Given the description of an element on the screen output the (x, y) to click on. 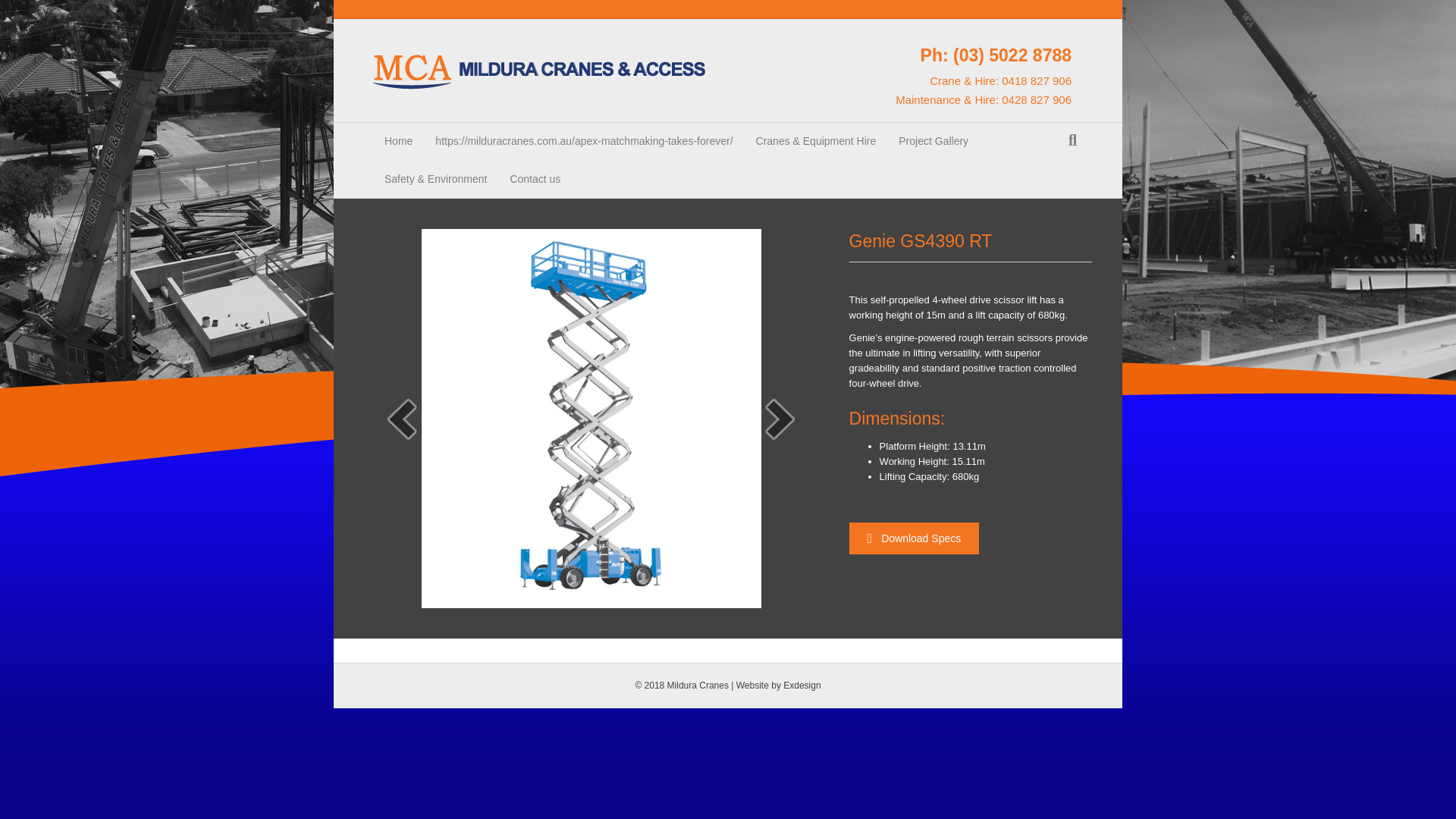
Download Specs (913, 538)
Home (397, 141)
Contact us (534, 179)
Project Gallery (932, 141)
